Given the description of an element on the screen output the (x, y) to click on. 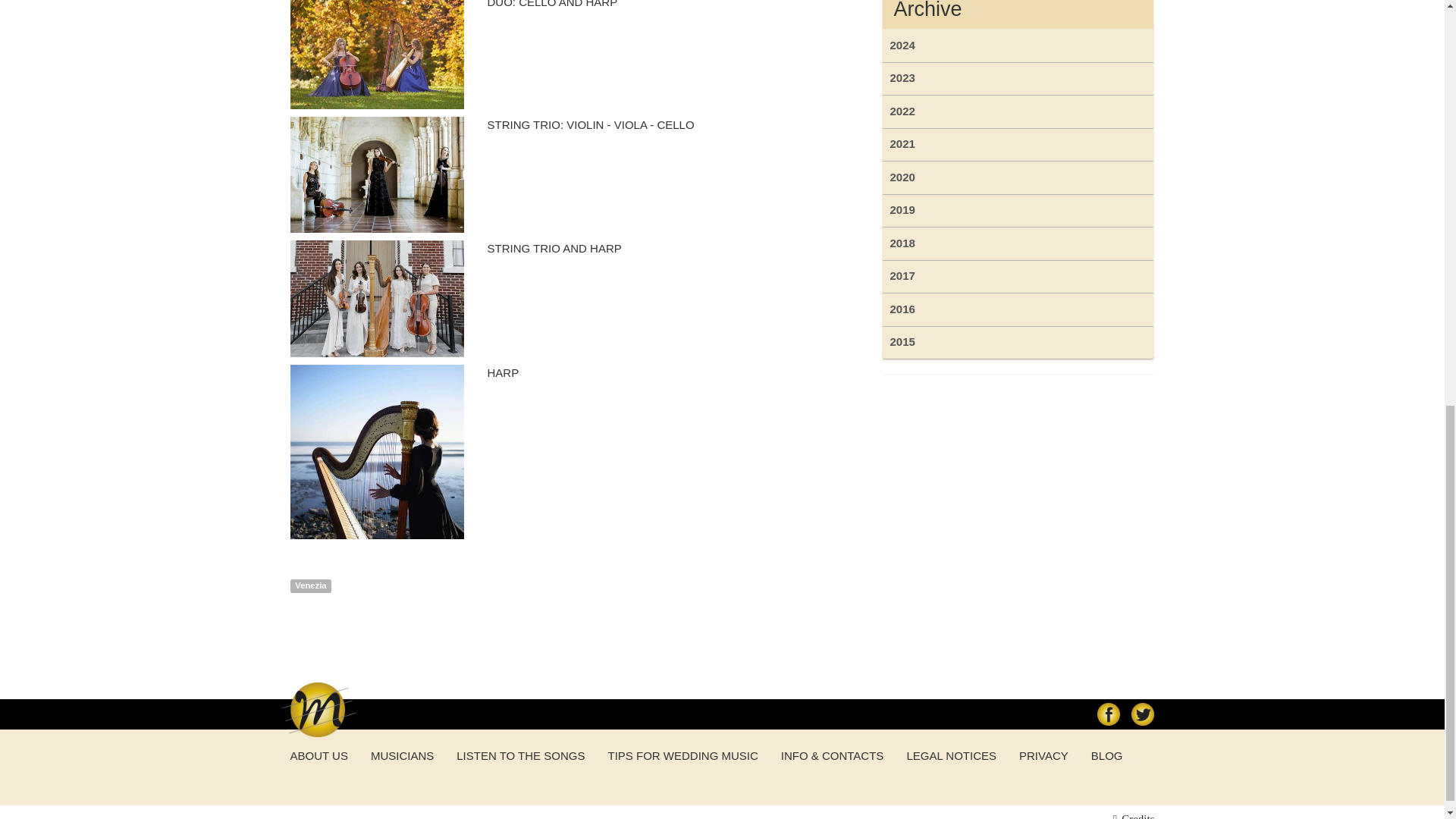
facebook (1107, 713)
2019 (1018, 211)
MUSICIANS (402, 755)
2015 (1018, 342)
2018 (1018, 243)
2021 (1018, 144)
2020 (1018, 177)
2024 (1018, 45)
2022 (1018, 111)
Twitter (1142, 713)
